Given the description of an element on the screen output the (x, y) to click on. 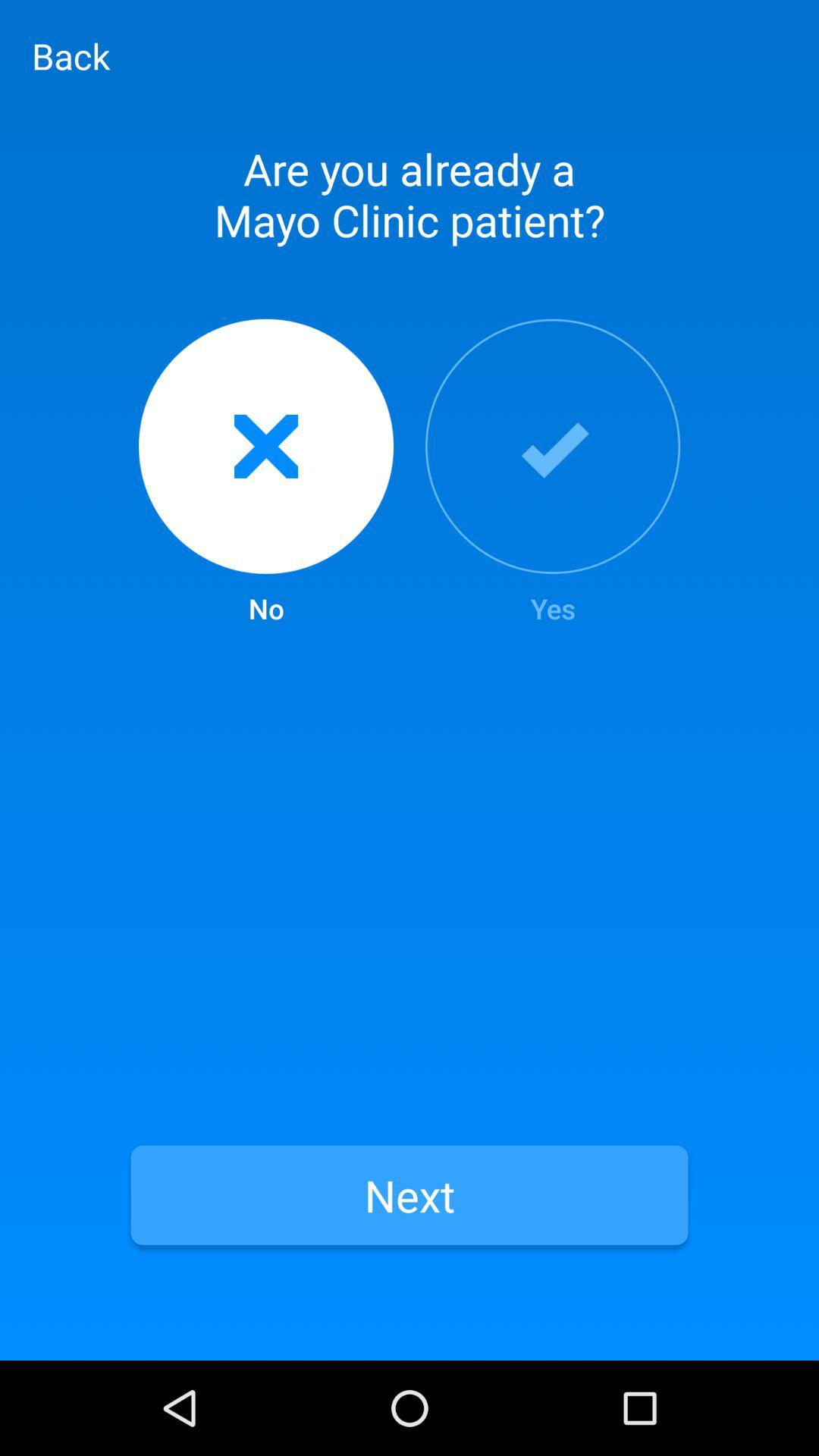
swipe to the next (409, 1194)
